Given the description of an element on the screen output the (x, y) to click on. 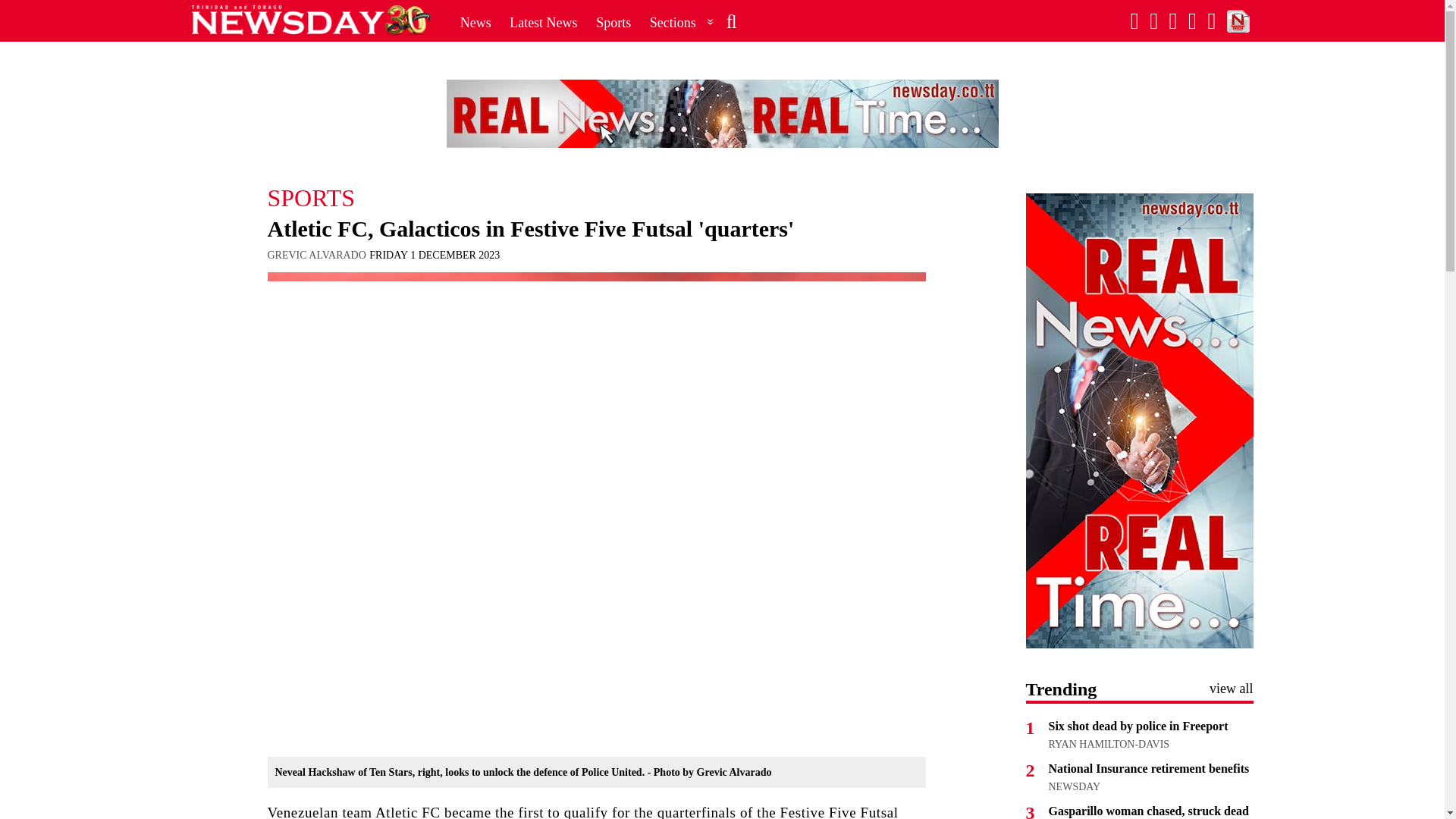
Sports (613, 22)
Latest News (543, 22)
National Insurance retirement benefits (1148, 768)
NEWSDAY (1074, 786)
SPORTS (595, 197)
Friday 1 December 2023 (434, 254)
Six shot dead by police in Freeport (1137, 725)
RYAN HAMILTON-DAVIS (1108, 744)
Gasparillo woman chased, struck dead with car (1147, 811)
Sections (682, 22)
